Given the description of an element on the screen output the (x, y) to click on. 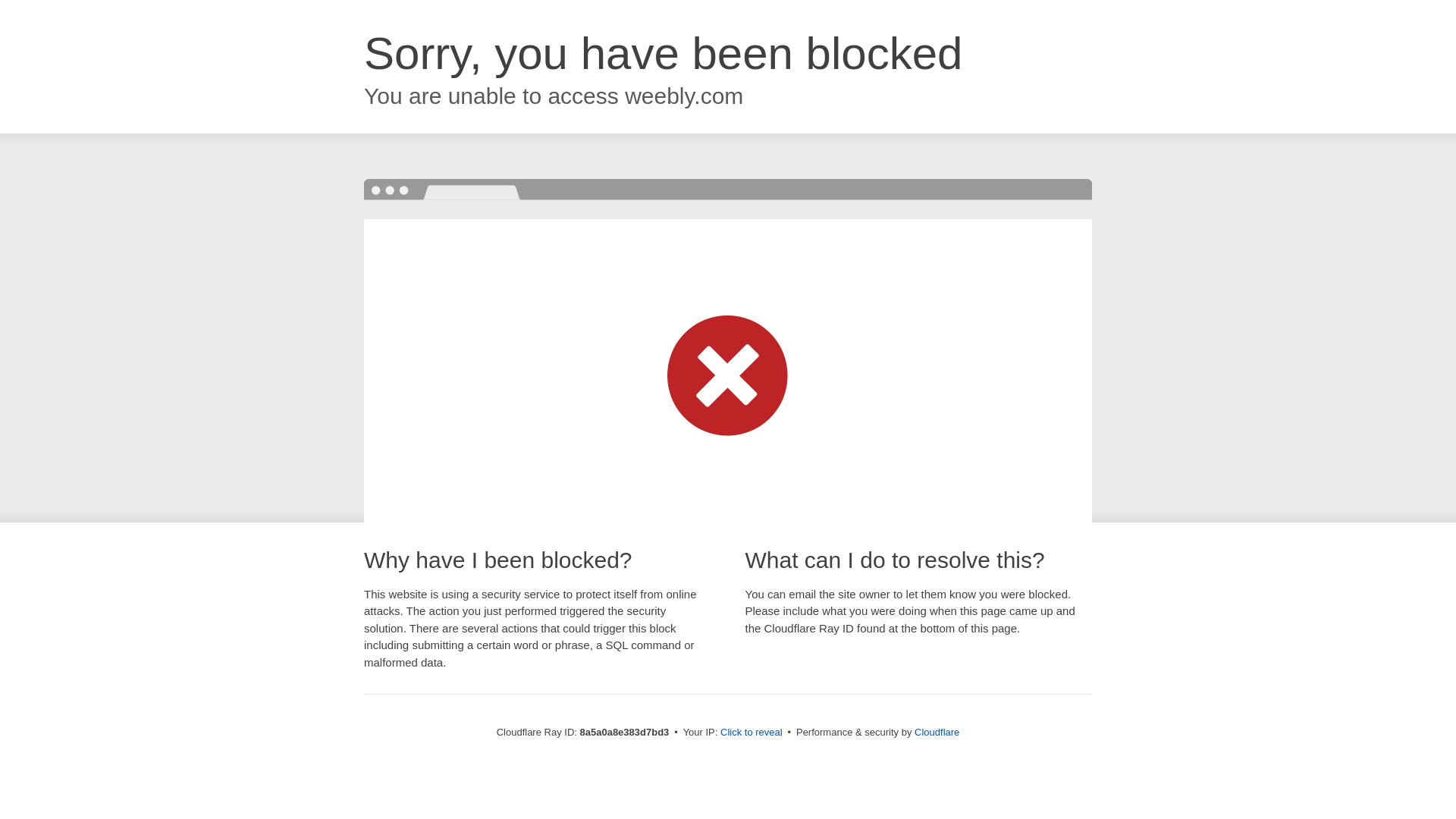
Cloudflare (936, 731)
Click to reveal (751, 732)
